Given the description of an element on the screen output the (x, y) to click on. 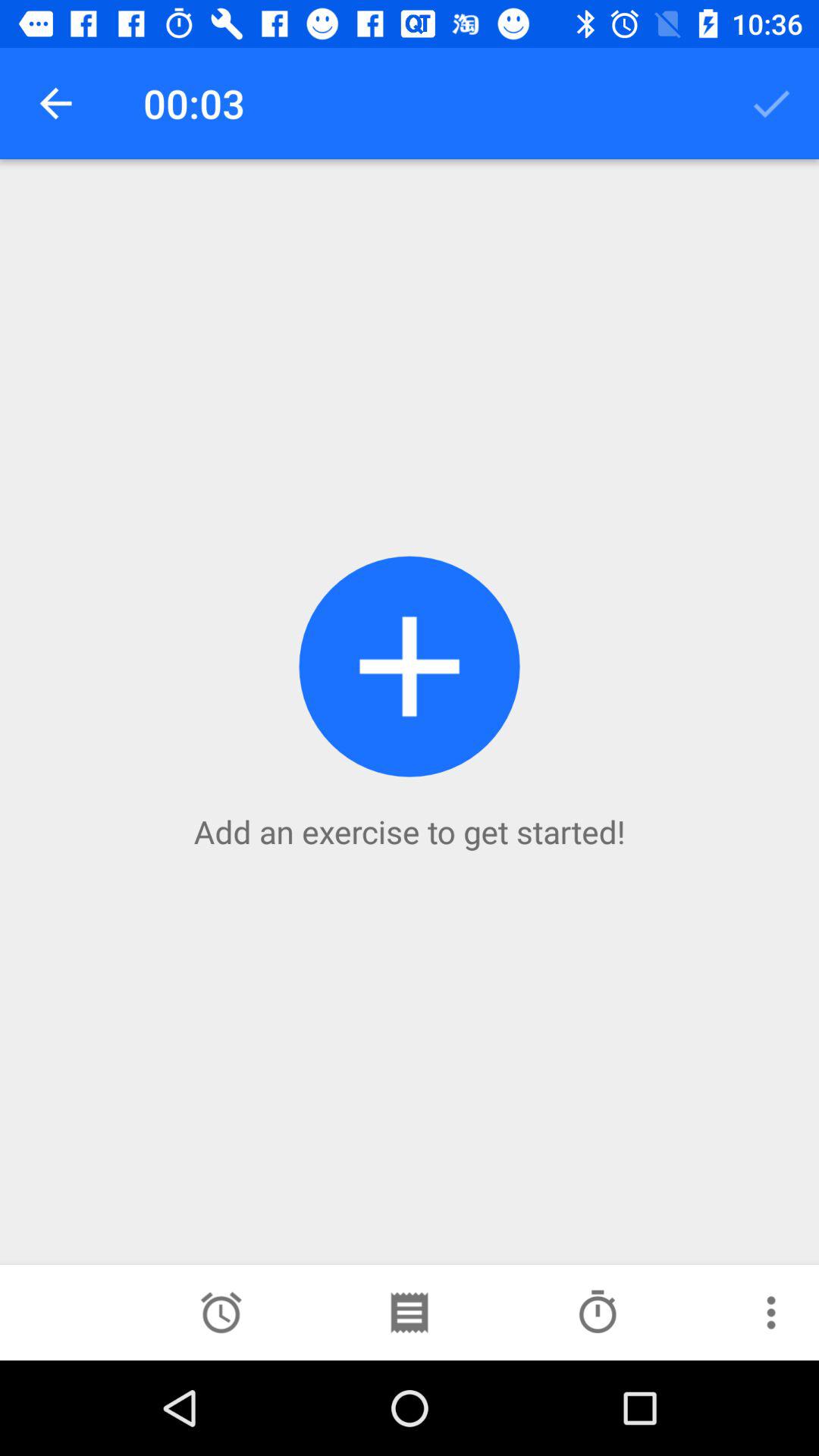
tap icon below add an exercise item (221, 1312)
